Given the description of an element on the screen output the (x, y) to click on. 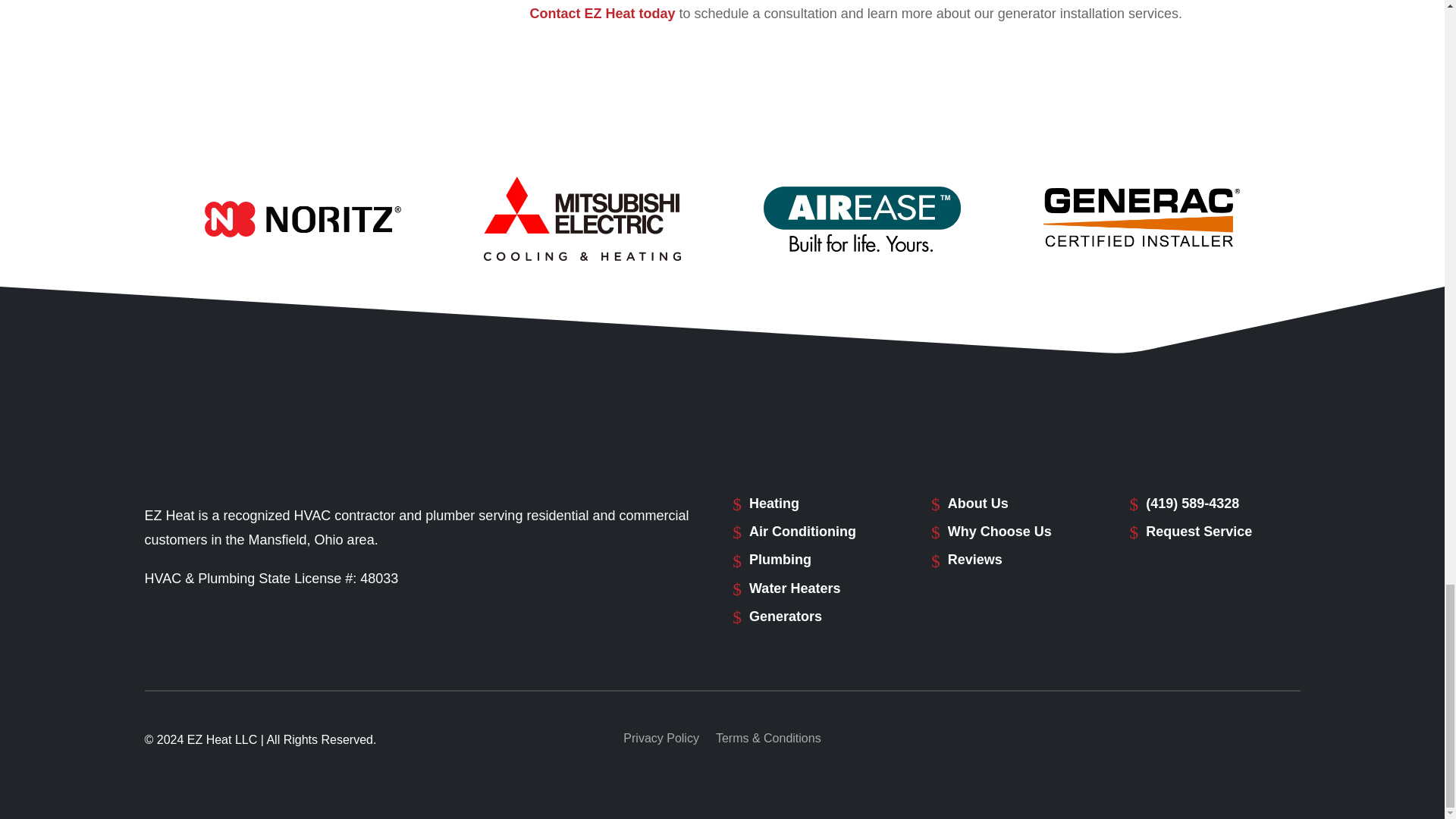
Why Choose Us (999, 531)
Air Conditioning (802, 531)
Privacy Policy (660, 741)
Plumbing (779, 559)
Request Service (1198, 531)
Generators (785, 616)
Reviews (975, 559)
About Us (978, 503)
Water Heaters (794, 588)
Heating (774, 503)
Contact EZ Heat today (602, 13)
